Given the description of an element on the screen output the (x, y) to click on. 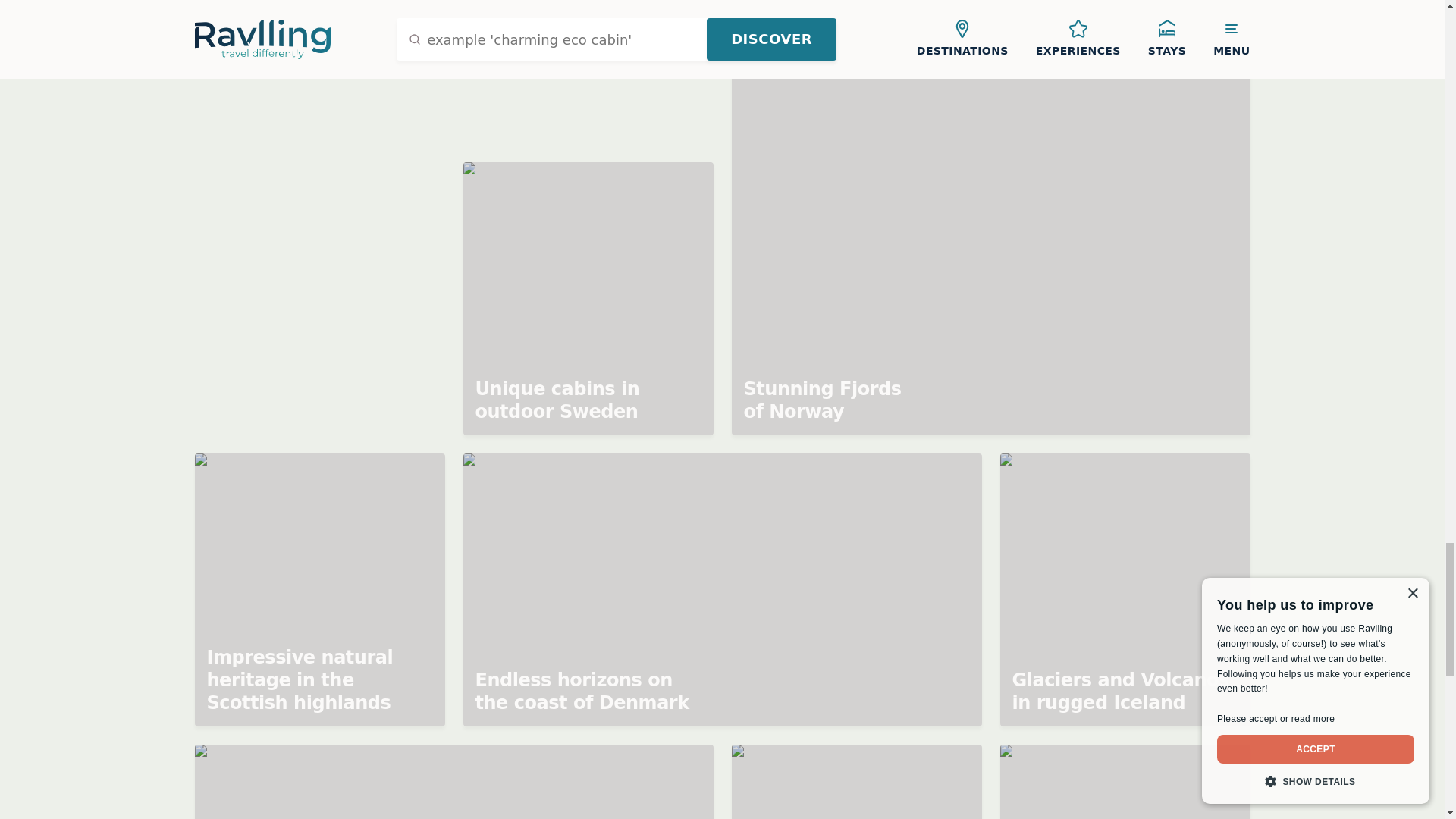
Engage with the local people of Ireland (855, 781)
Impressive natural heritage in the Scottish highlands (318, 589)
Glaciers and Volcanos in rugged Iceland (1123, 589)
Unique cabins in outdoor Sweden (588, 298)
